Given the description of an element on the screen output the (x, y) to click on. 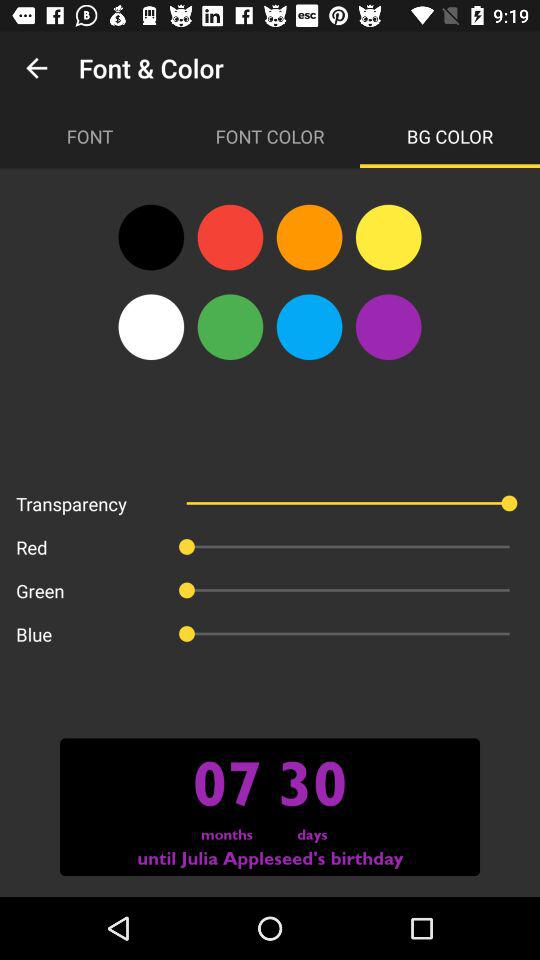
click icon to the right of the font color (450, 136)
